Given the description of an element on the screen output the (x, y) to click on. 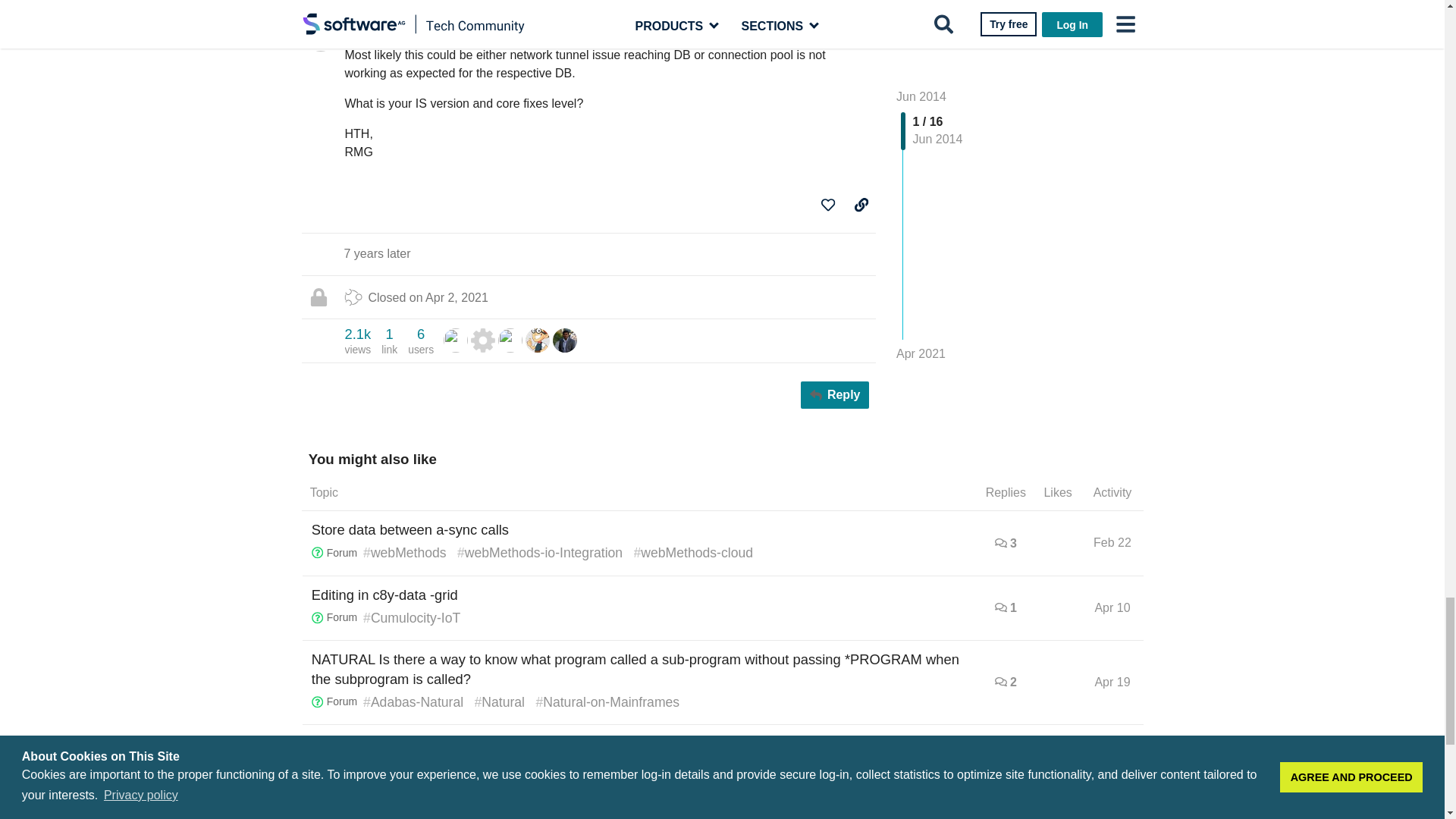
system (482, 340)
Rob Grant (455, 340)
system (482, 339)
